Given the description of an element on the screen output the (x, y) to click on. 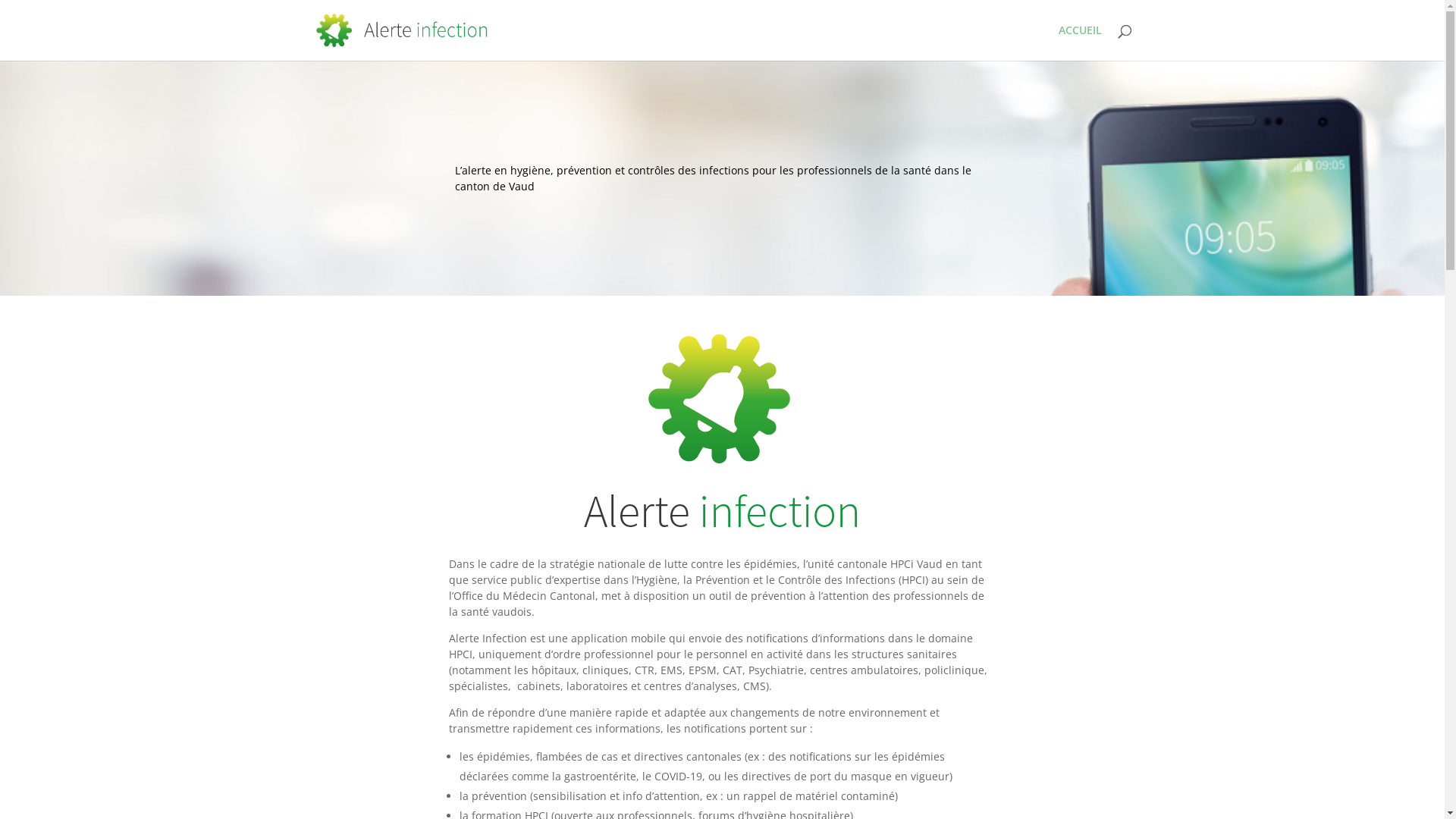
Logo_AlerteInfection_t2 Element type: hover (721, 436)
ACCUEIL Element type: text (1079, 42)
